Given the description of an element on the screen output the (x, y) to click on. 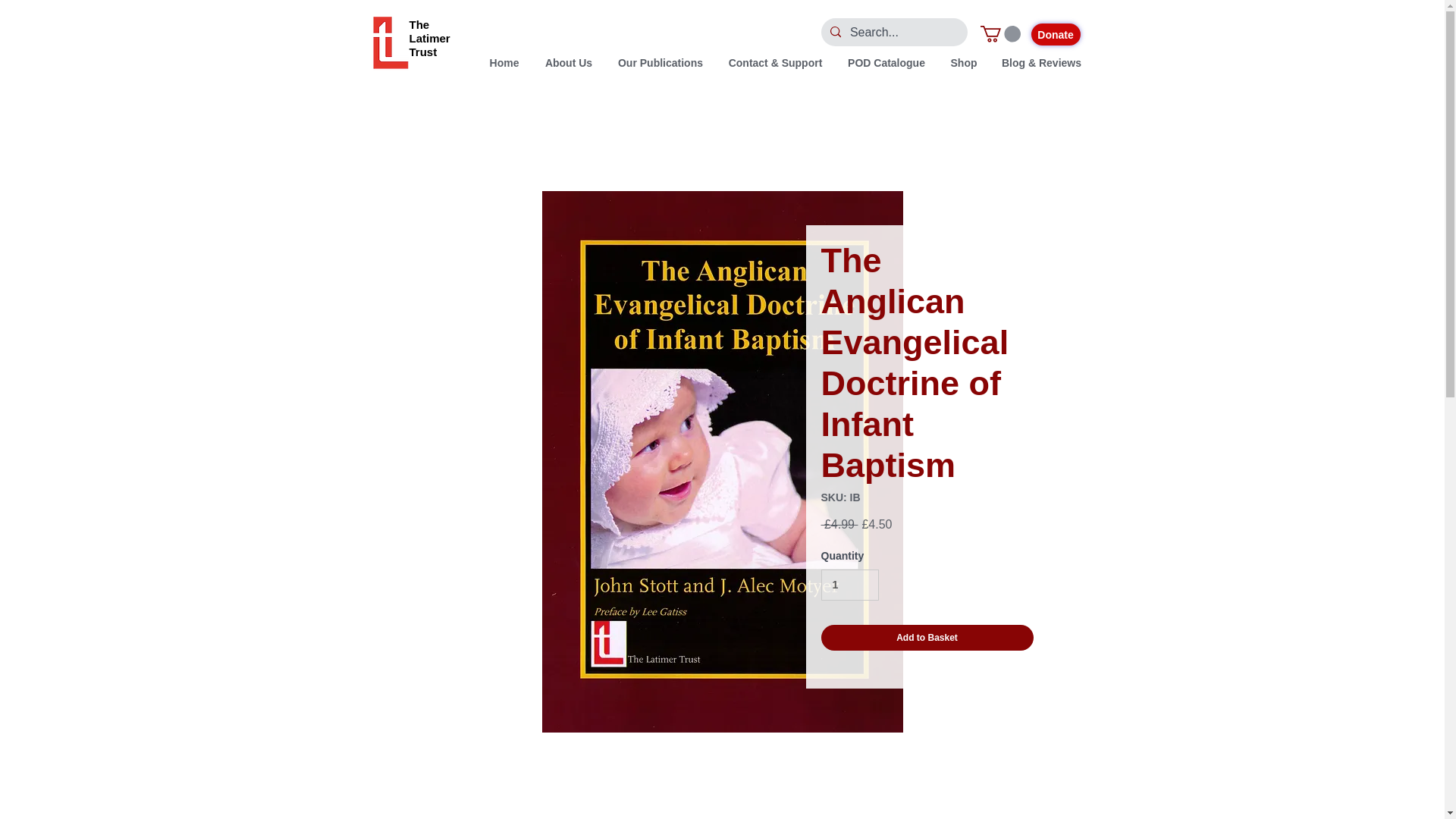
About Us (568, 63)
1 (849, 584)
Donate (1055, 34)
Our Publications (659, 63)
Home (503, 63)
Add to Basket (926, 637)
POD Catalogue (886, 63)
Latimer (429, 38)
The (419, 24)
Trust (423, 51)
Shop (964, 63)
